Given the description of an element on the screen output the (x, y) to click on. 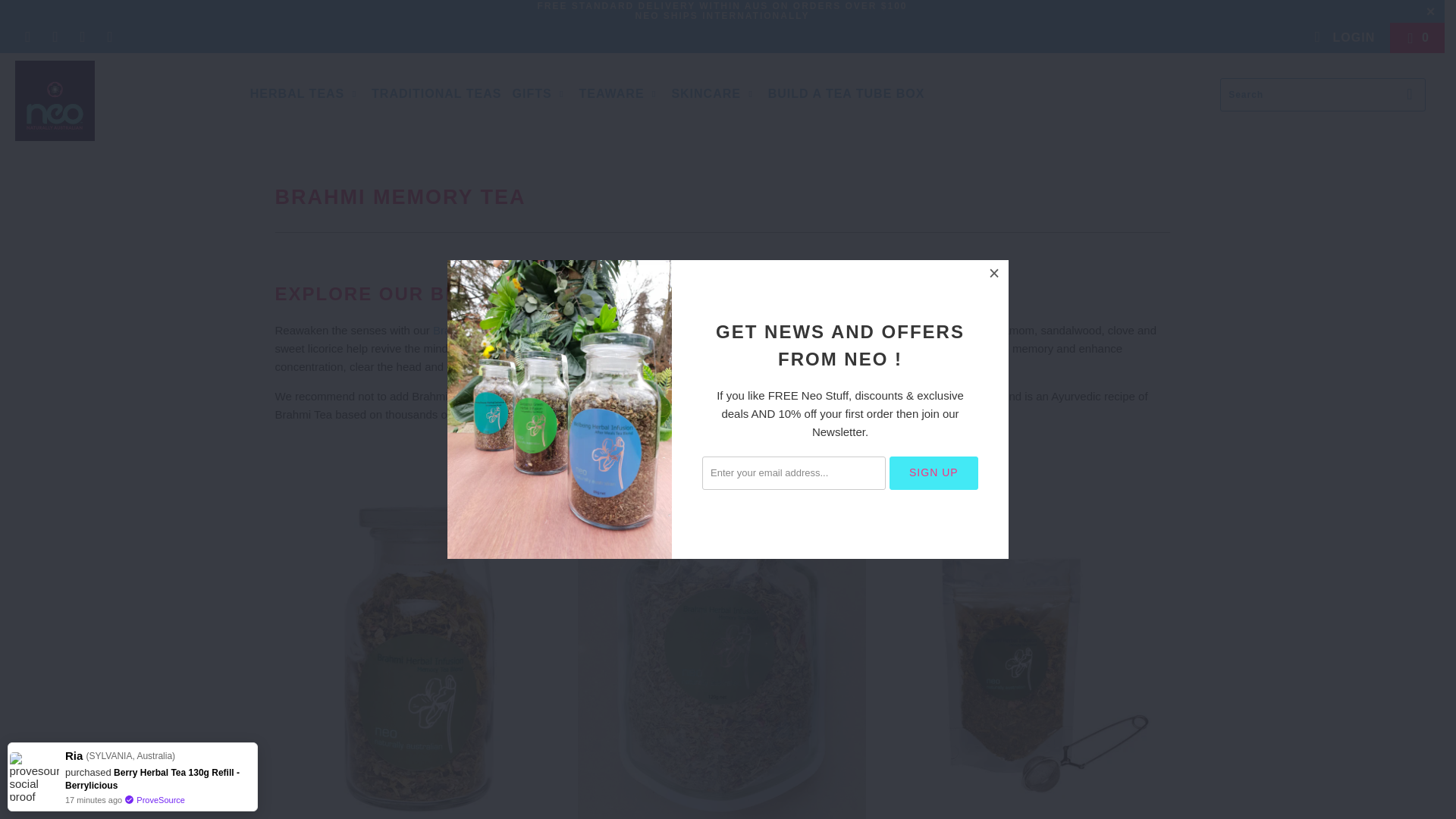
Neo Australia on Facebook (54, 37)
Brahmi Memory Tea (483, 329)
Shipping and Returns (722, 5)
Neo Australia (122, 100)
Sign Up (933, 472)
Neo Australia on Instagram (108, 37)
Neo Australia on Twitter (26, 37)
My Account  (1342, 37)
Neo Australia on Pinterest (82, 37)
